Given the description of an element on the screen output the (x, y) to click on. 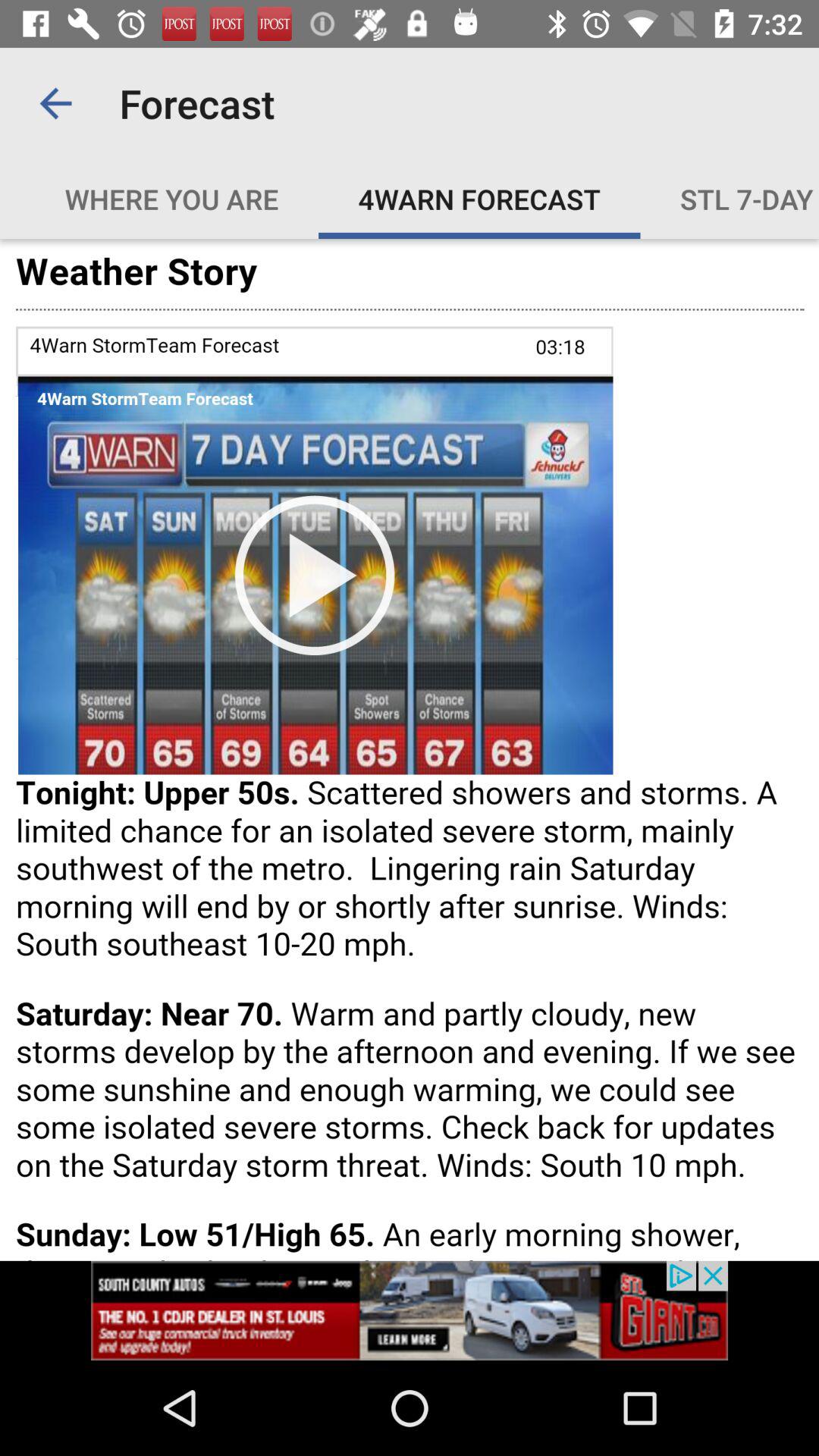
advertiser banner (409, 1310)
